Given the description of an element on the screen output the (x, y) to click on. 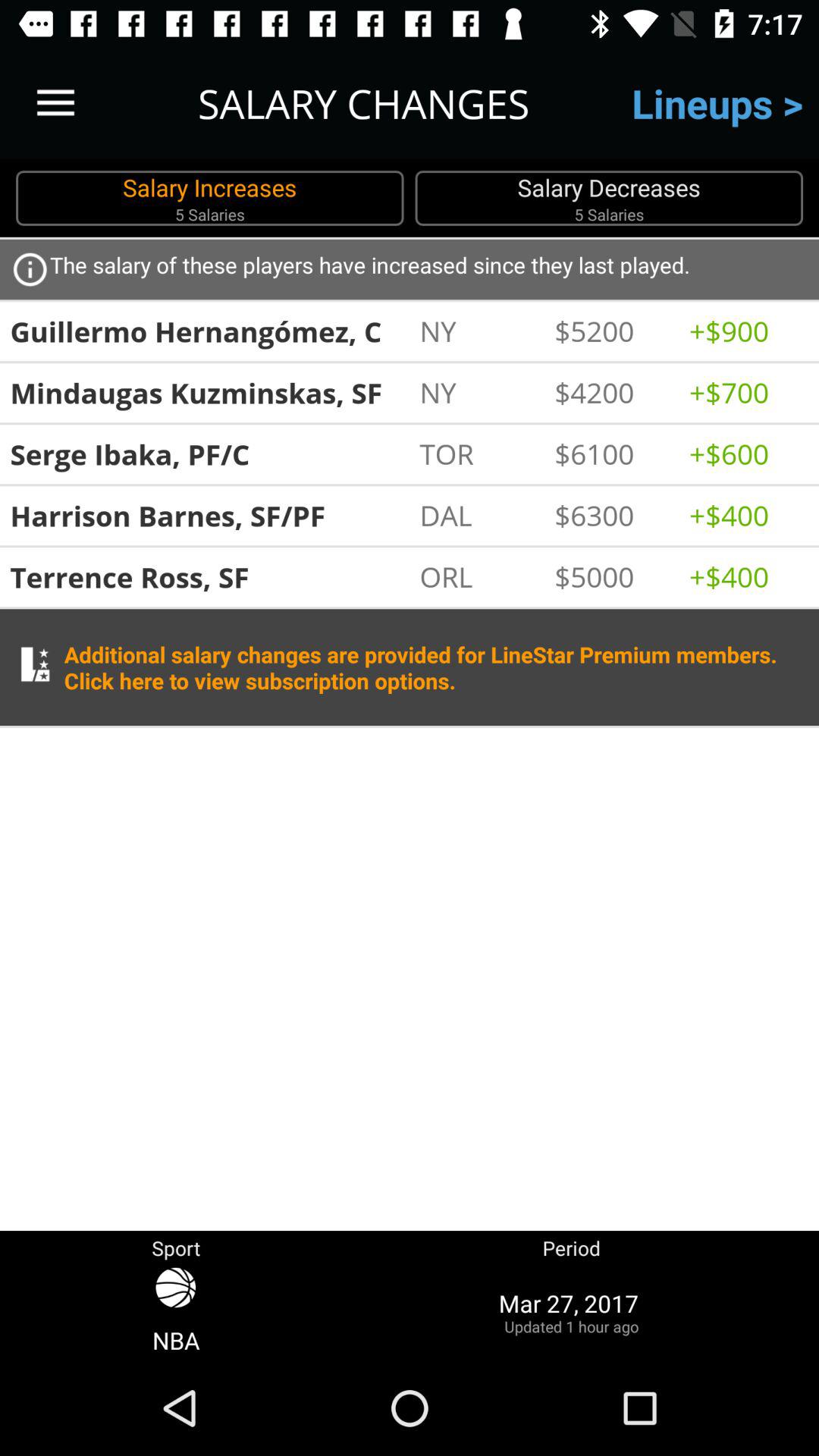
scroll until dal (478, 515)
